Given the description of an element on the screen output the (x, y) to click on. 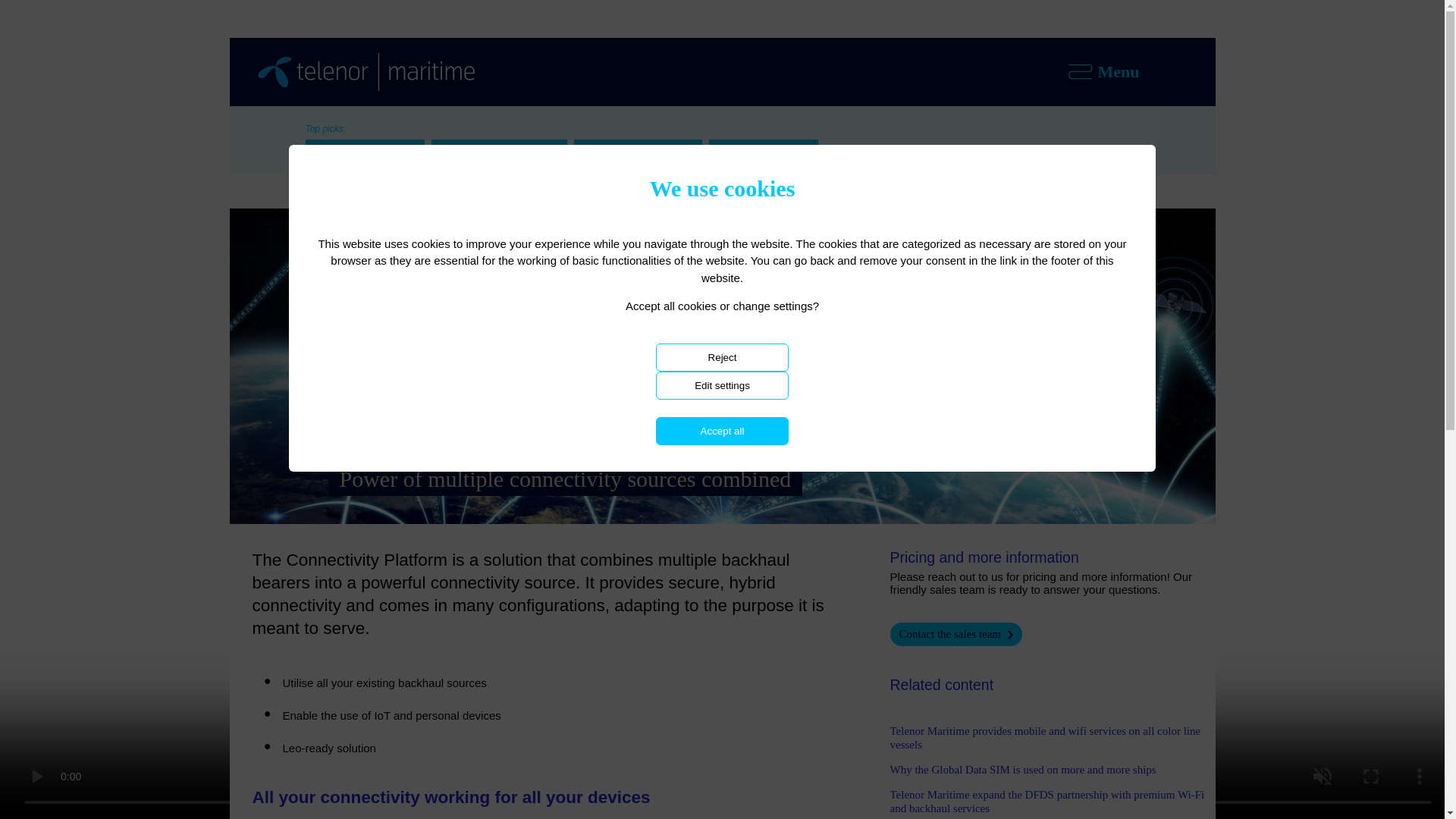
Telenor Maritime - Leading the digital transformation at sea (365, 71)
Wi-Fi Service Portal (762, 148)
Menu (1141, 71)
Mobile Service on board (637, 148)
Contact the sales team (956, 634)
Connectivity (472, 186)
Telenor Maritime (341, 186)
Solutions (411, 186)
Accept all (722, 430)
Reject (722, 357)
Edit settings (722, 385)
Why the Global Data SIM is used on more and more ships (1022, 769)
Contact the sales team (956, 634)
